Given the description of an element on the screen output the (x, y) to click on. 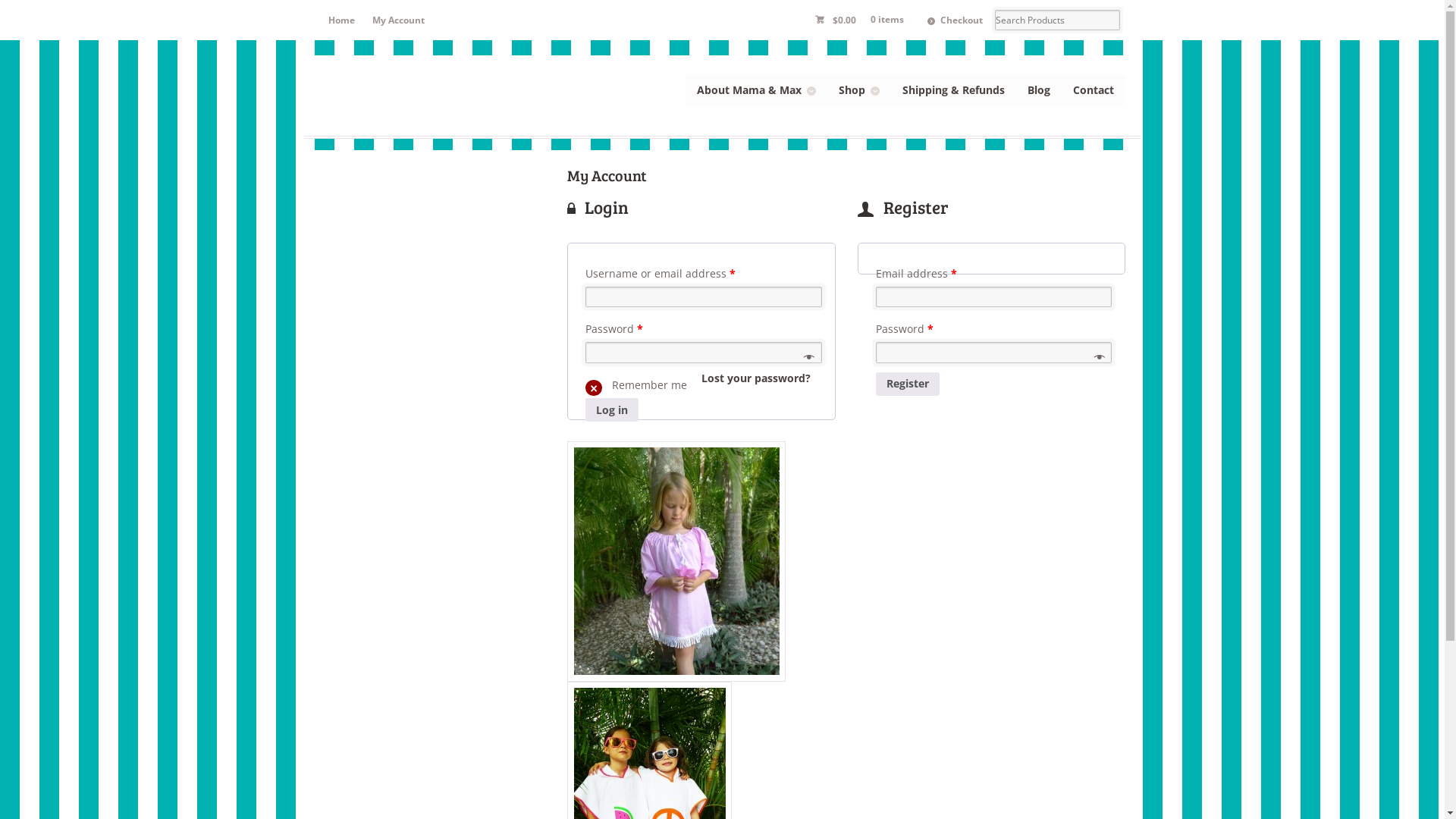
Search Element type: text (62, 10)
Log in Element type: text (611, 409)
$0.000 items Element type: text (862, 20)
Register Element type: text (907, 383)
Contact Element type: text (1093, 89)
Lost your password? Element type: text (755, 377)
My Account Element type: text (398, 20)
About Mama & Max Element type: text (756, 89)
Shop Element type: text (859, 89)
Shipping & Refunds Element type: text (953, 89)
Blog Element type: text (1038, 89)
Checkout Element type: text (954, 20)
Home Element type: text (341, 20)
